Given the description of an element on the screen output the (x, y) to click on. 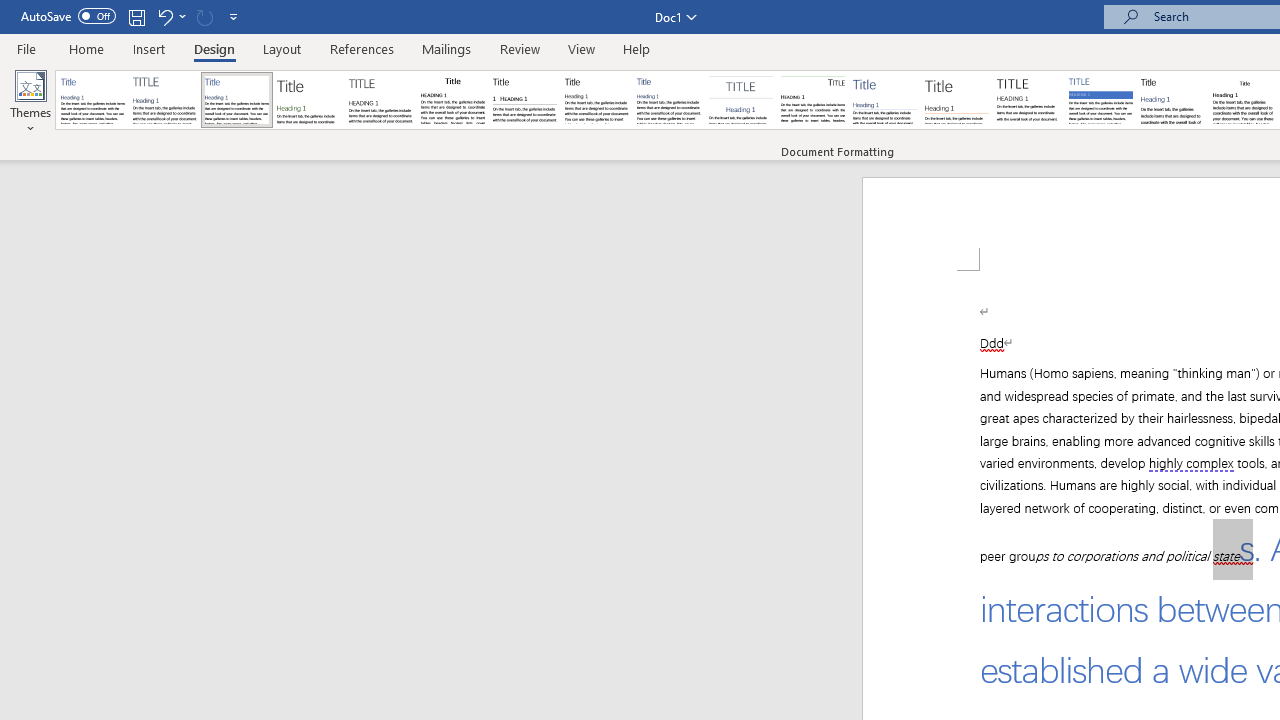
Shaded (1100, 100)
Can't Repeat (204, 15)
Word (1172, 100)
Black & White (Capitalized) (381, 100)
Minimalist (1028, 100)
Black & White (Numbered) (524, 100)
Undo Apply Quick Style Set (170, 15)
Centered (740, 100)
